Given the description of an element on the screen output the (x, y) to click on. 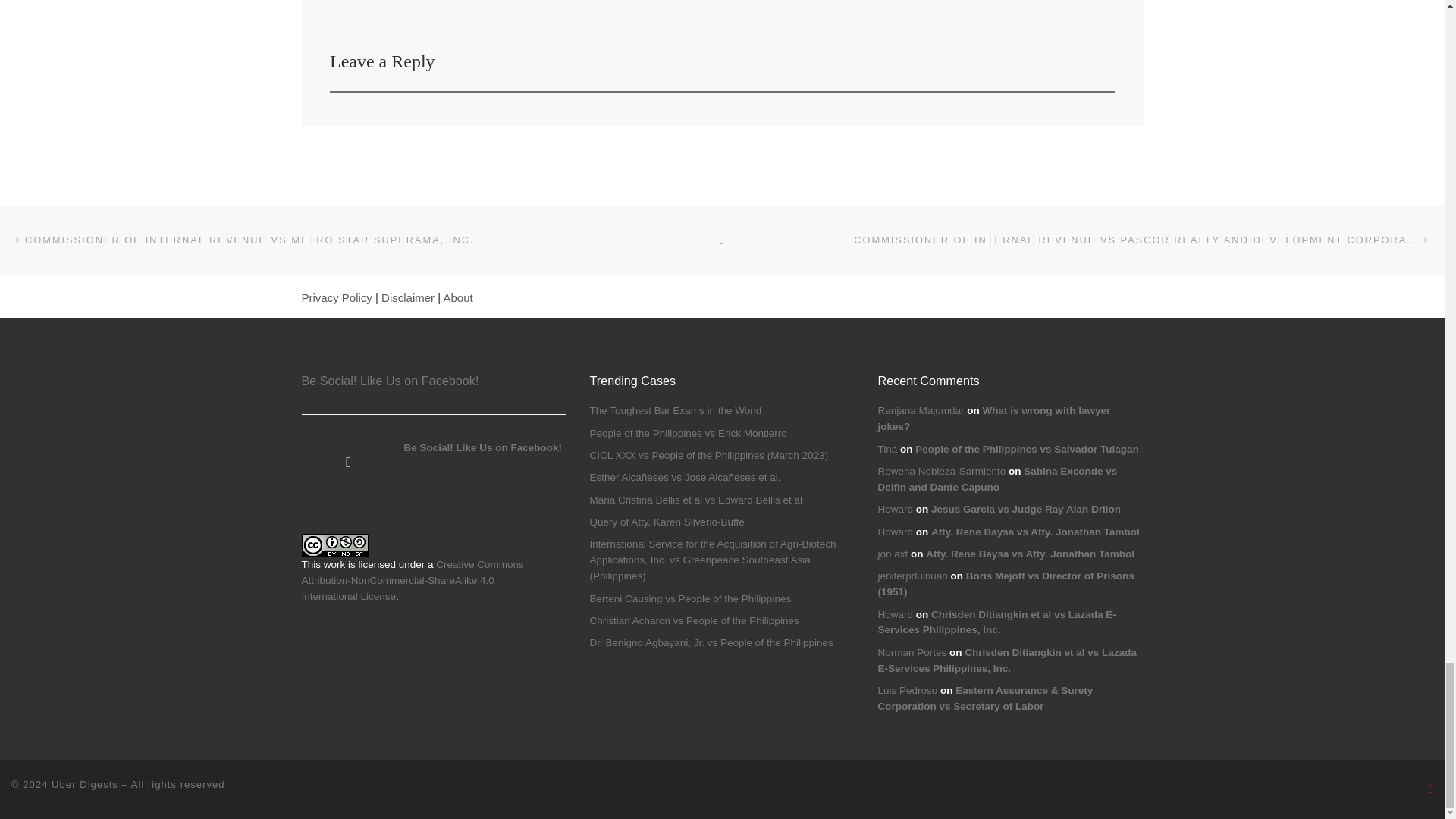
Uber Digests (83, 784)
